Given the description of an element on the screen output the (x, y) to click on. 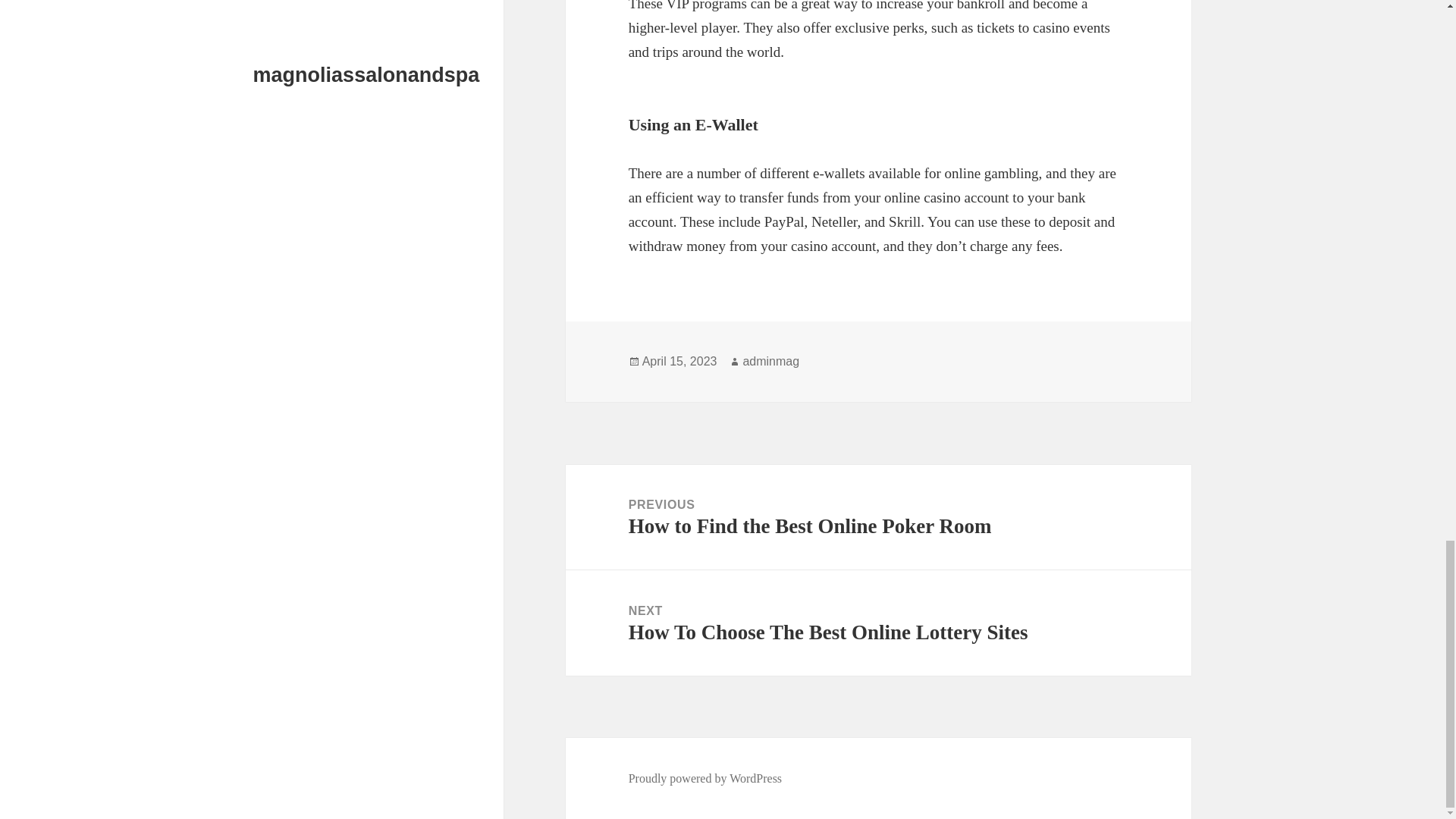
April 15, 2023 (878, 622)
Proudly powered by WordPress (679, 361)
adminmag (704, 778)
